Given the description of an element on the screen output the (x, y) to click on. 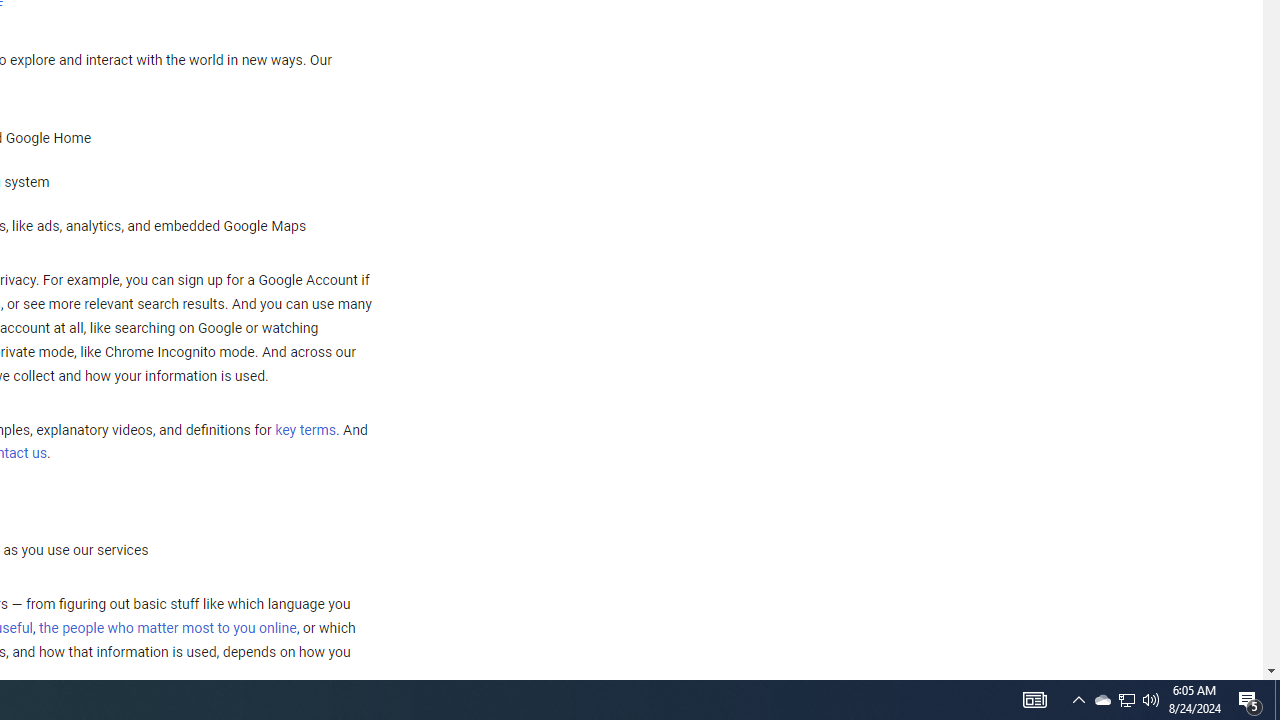
key terms (305, 430)
the people who matter most to you online (167, 628)
